Given the description of an element on the screen output the (x, y) to click on. 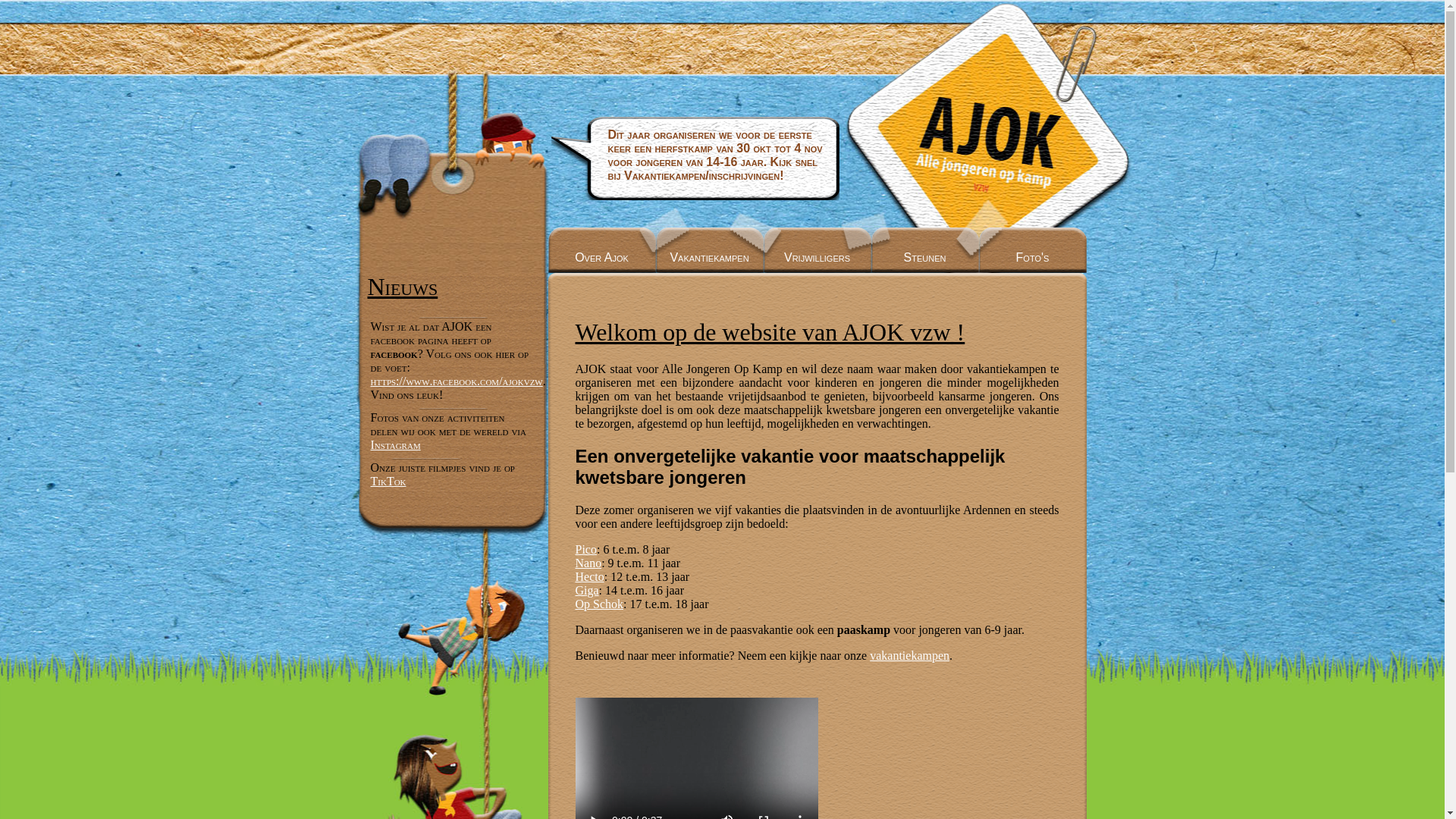
Over Ajok Element type: text (601, 250)
Pico Element type: text (585, 548)
Nano Element type: text (587, 562)
https://www.facebook.com/ajokvzw Element type: text (456, 380)
Hecto Element type: text (588, 576)
Vakantiekampen Element type: text (708, 250)
vakantiekampen Element type: text (909, 655)
Steunen Element type: text (924, 250)
Foto's Element type: text (1031, 250)
Vrijwilligers Element type: text (816, 250)
Instagram Element type: text (395, 444)
TikTok Element type: text (387, 480)
Giga Element type: text (586, 589)
Op Schok Element type: text (598, 603)
